Given the description of an element on the screen output the (x, y) to click on. 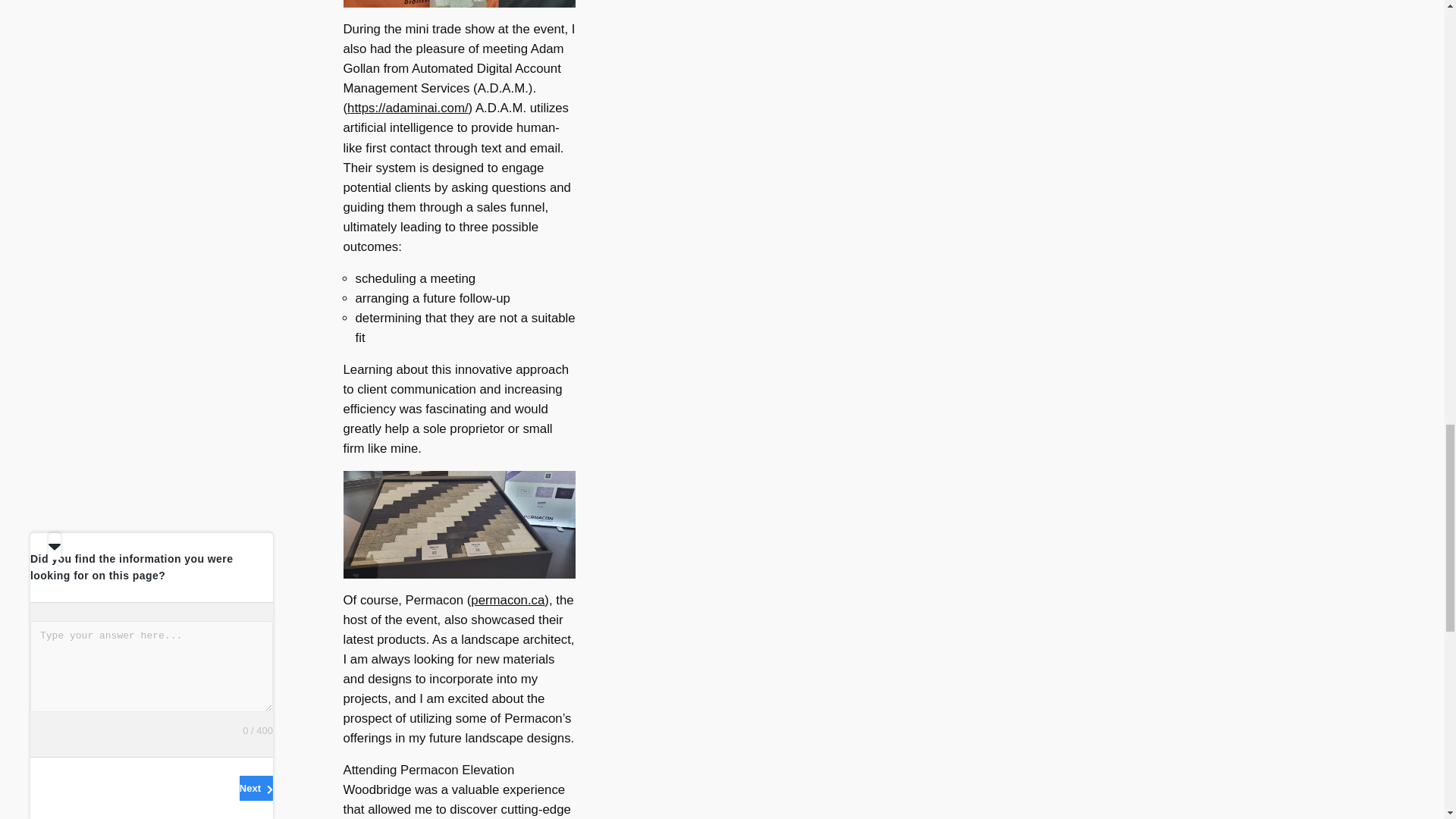
permacon.ca (507, 599)
permacon.ca (507, 599)
